Given the description of an element on the screen output the (x, y) to click on. 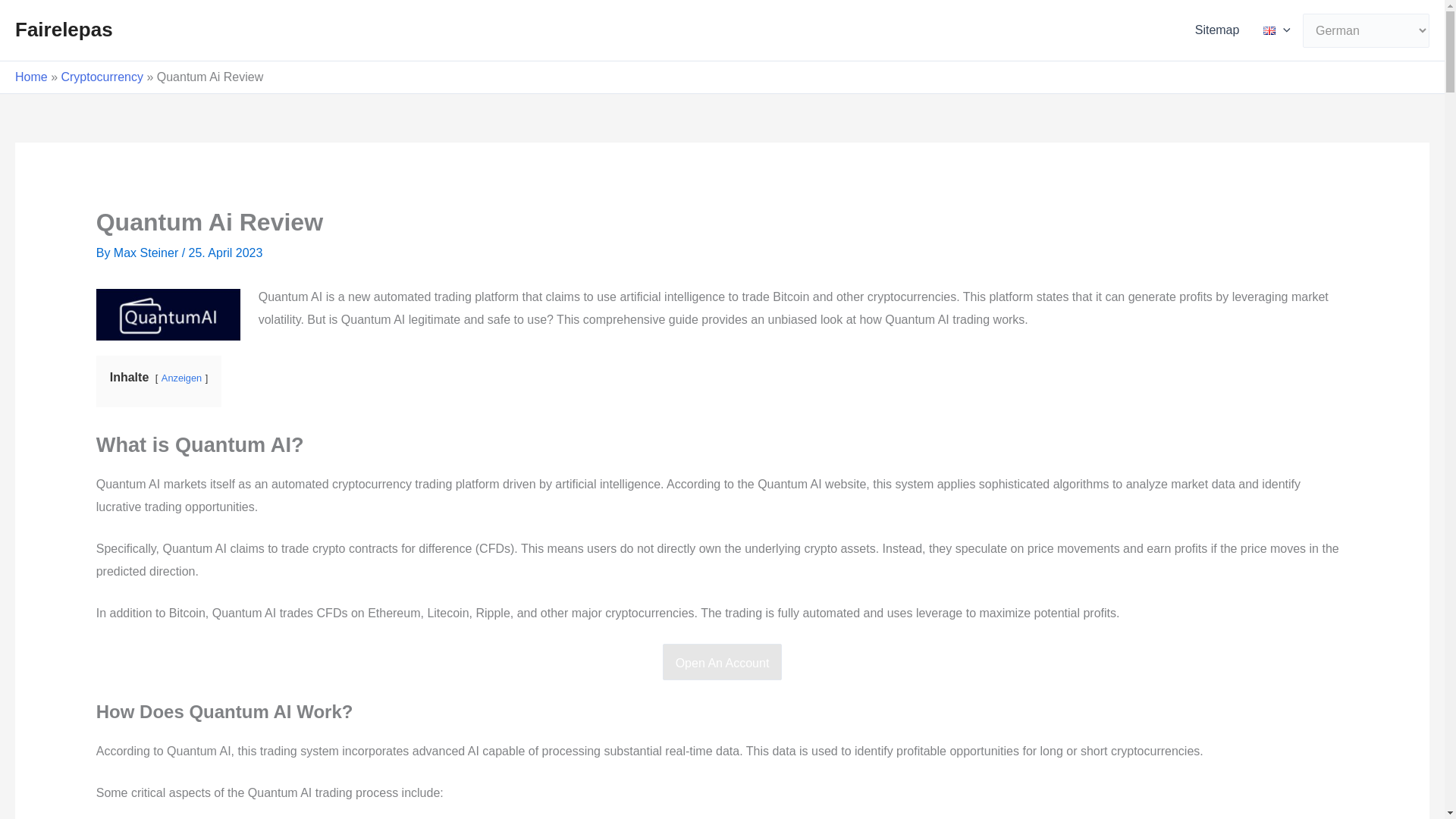
Cryptocurrency (101, 76)
Max Steiner (147, 252)
Fairelepas (63, 29)
Home (31, 76)
View all posts by Max Steiner (147, 252)
Sitemap (1217, 30)
Anzeigen (181, 378)
